Given the description of an element on the screen output the (x, y) to click on. 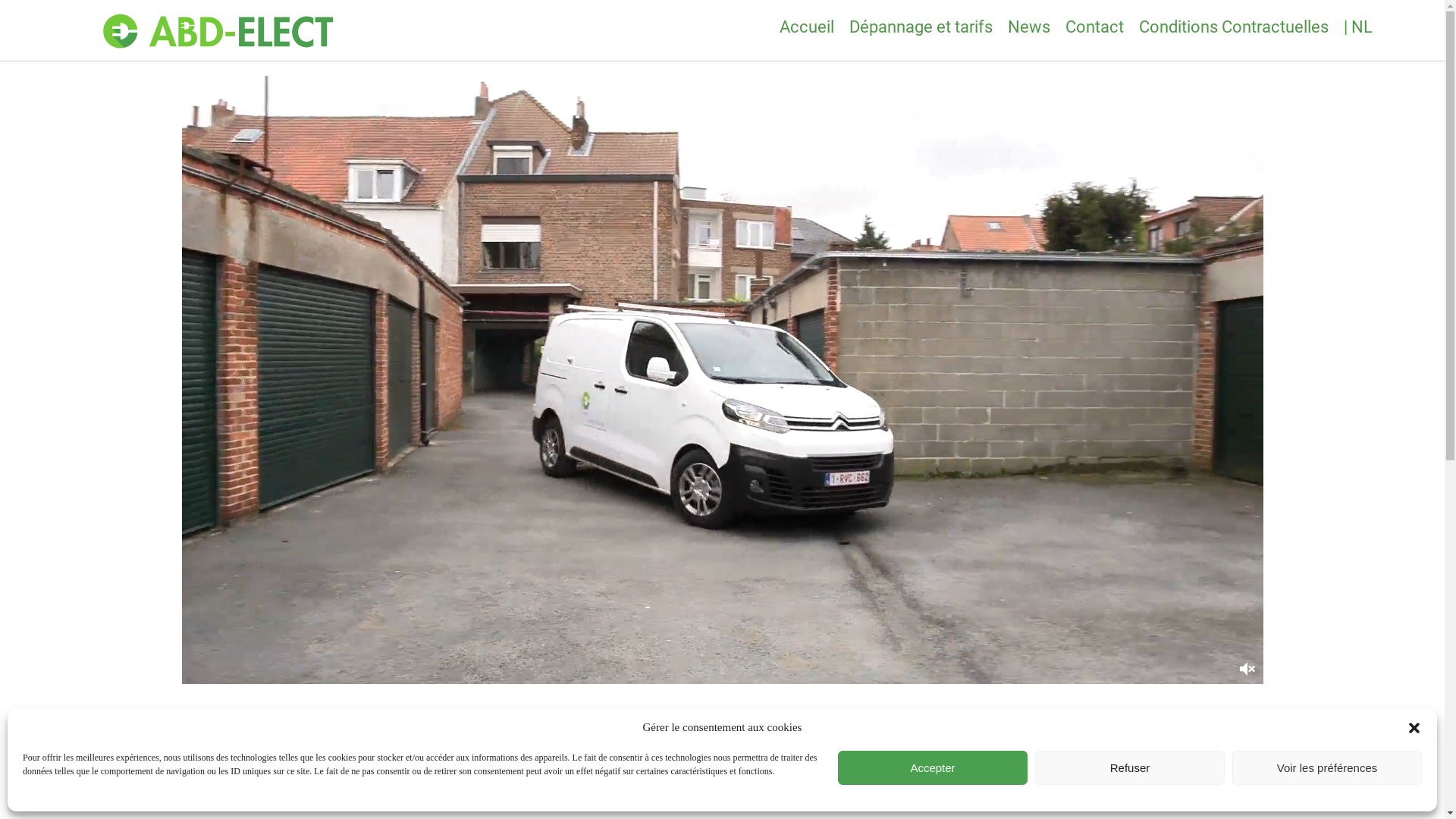
News Element type: text (1028, 26)
Conditions Contractuelles Element type: text (1233, 26)
Accueil Element type: text (806, 26)
Contact Element type: text (1094, 26)
Accepter Element type: text (932, 767)
Refuser Element type: text (1129, 767)
| NL Element type: text (1357, 26)
